Given the description of an element on the screen output the (x, y) to click on. 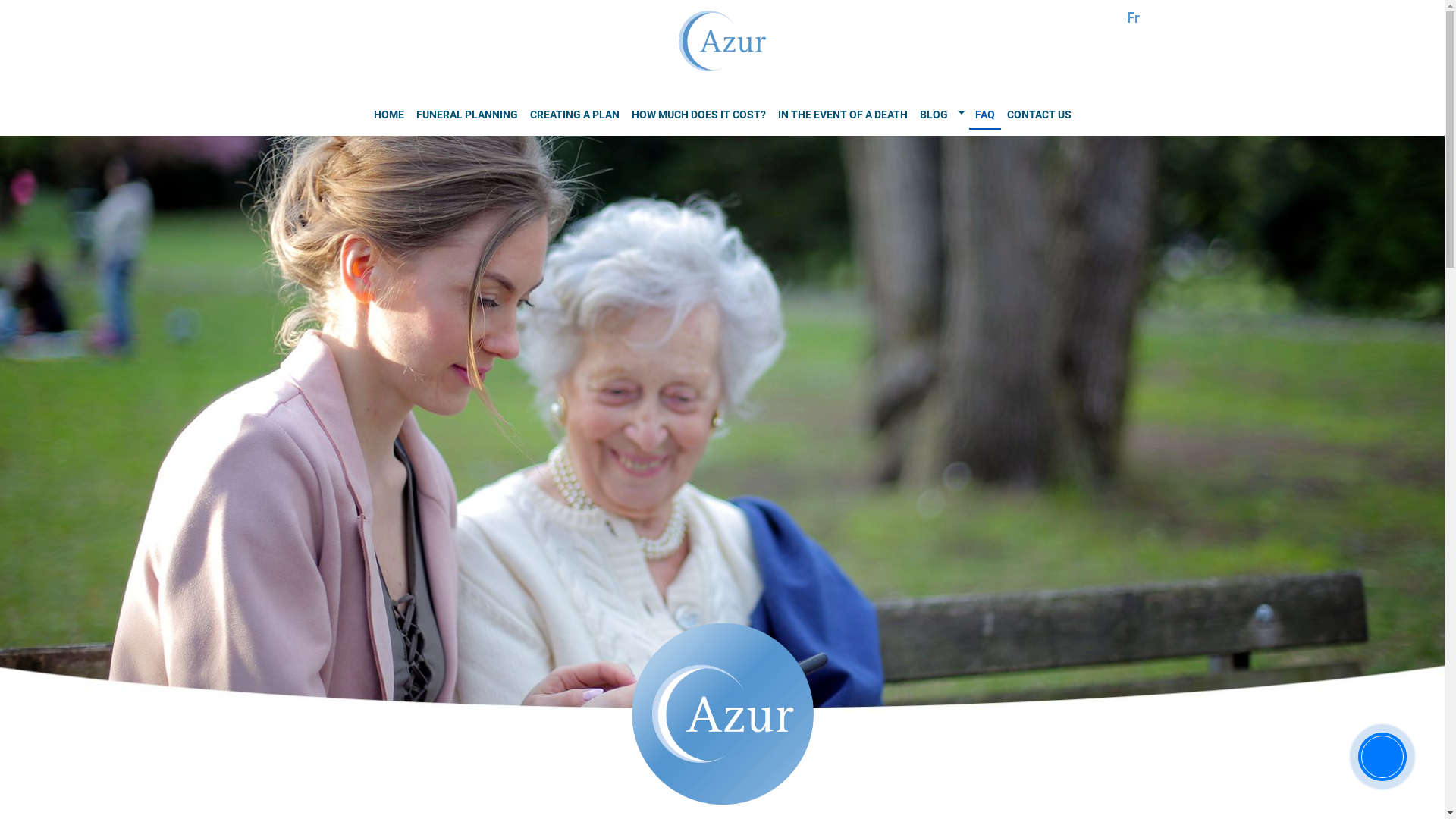
CONTACT US Element type: text (1039, 115)
CREATING A PLAN Element type: text (573, 115)
Fr Element type: text (1132, 17)
FUNERAL PLANNING Element type: text (466, 115)
HOW MUCH DOES IT COST? Element type: text (697, 115)
IN THE EVENT OF A DEATH Element type: text (842, 115)
HOME Element type: text (388, 115)
FAQ Element type: text (985, 115)
BLOG Element type: text (933, 115)
